Given the description of an element on the screen output the (x, y) to click on. 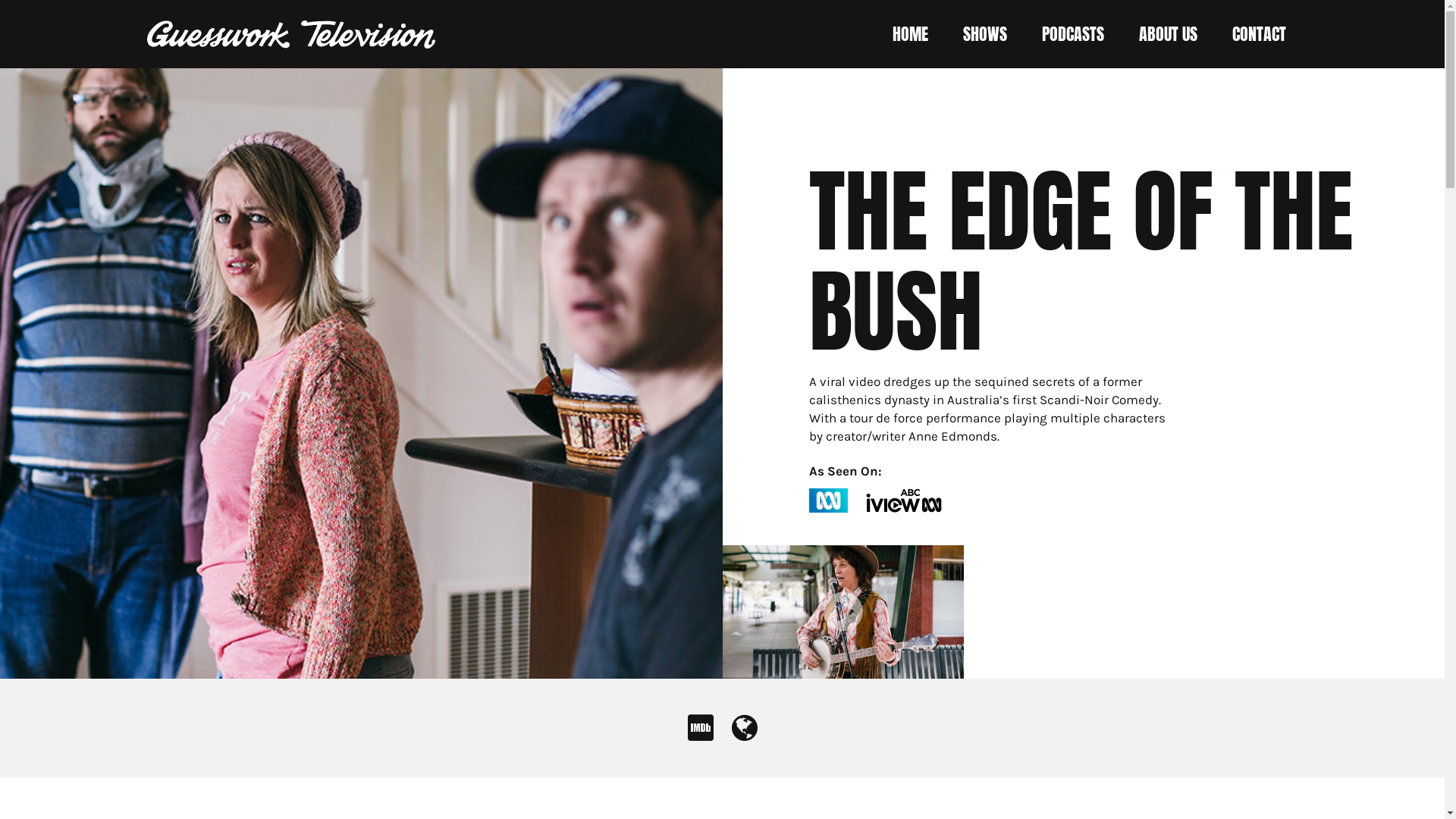
IMDb Element type: hover (699, 733)
Website Element type: hover (743, 733)
ABOUT US Element type: text (1168, 33)
CONTACT Element type: text (1258, 33)
SHOWS Element type: text (985, 33)
PODCASTS Element type: text (1072, 33)
HOME Element type: text (909, 33)
GUESSWORK TELEVISION Element type: hover (291, 33)
